Given the description of an element on the screen output the (x, y) to click on. 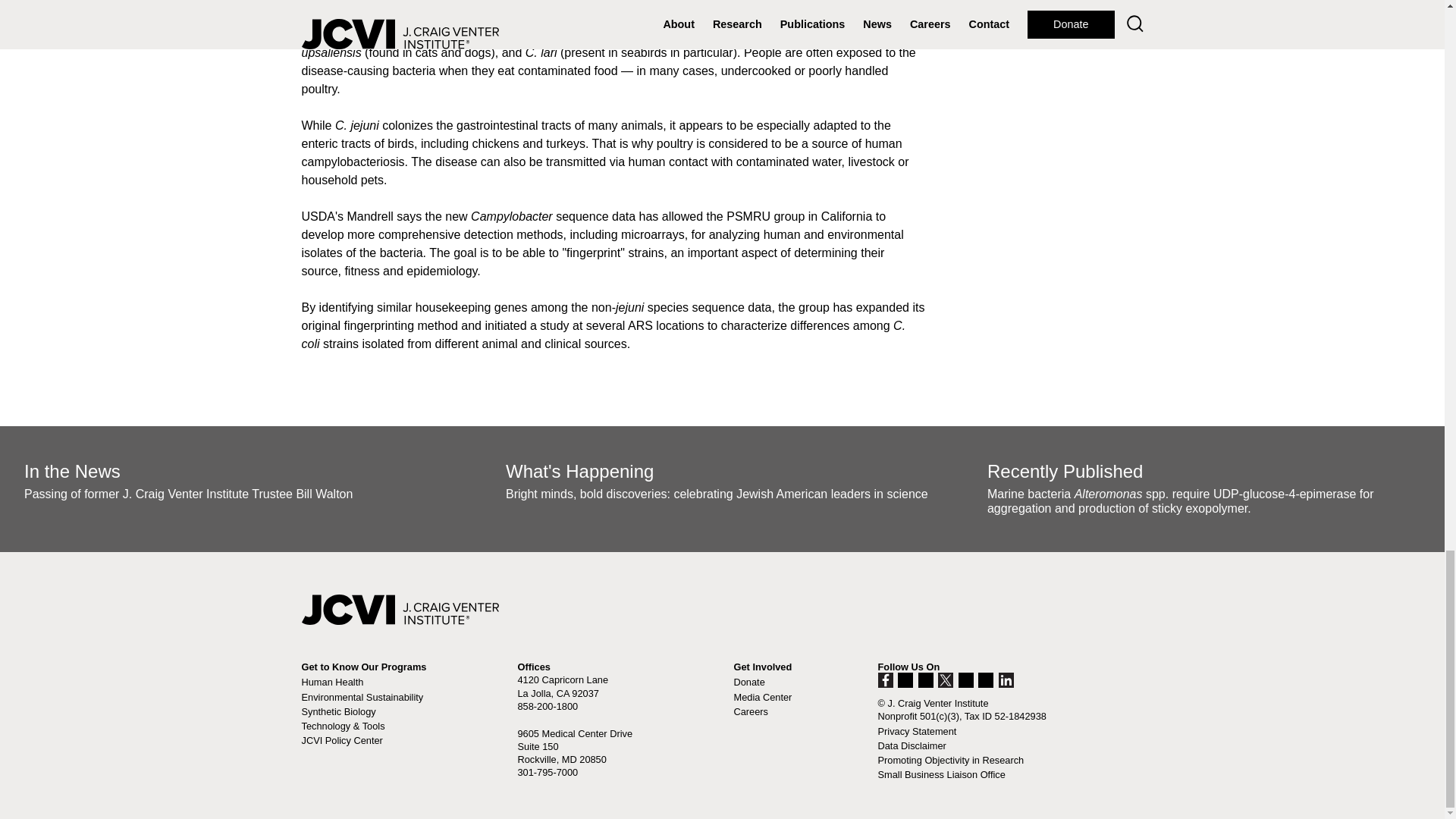
Synthetic Biology (338, 711)
JCVI Policy Center (341, 740)
Environmental Sustainability (362, 696)
Human Health (332, 681)
